Given the description of an element on the screen output the (x, y) to click on. 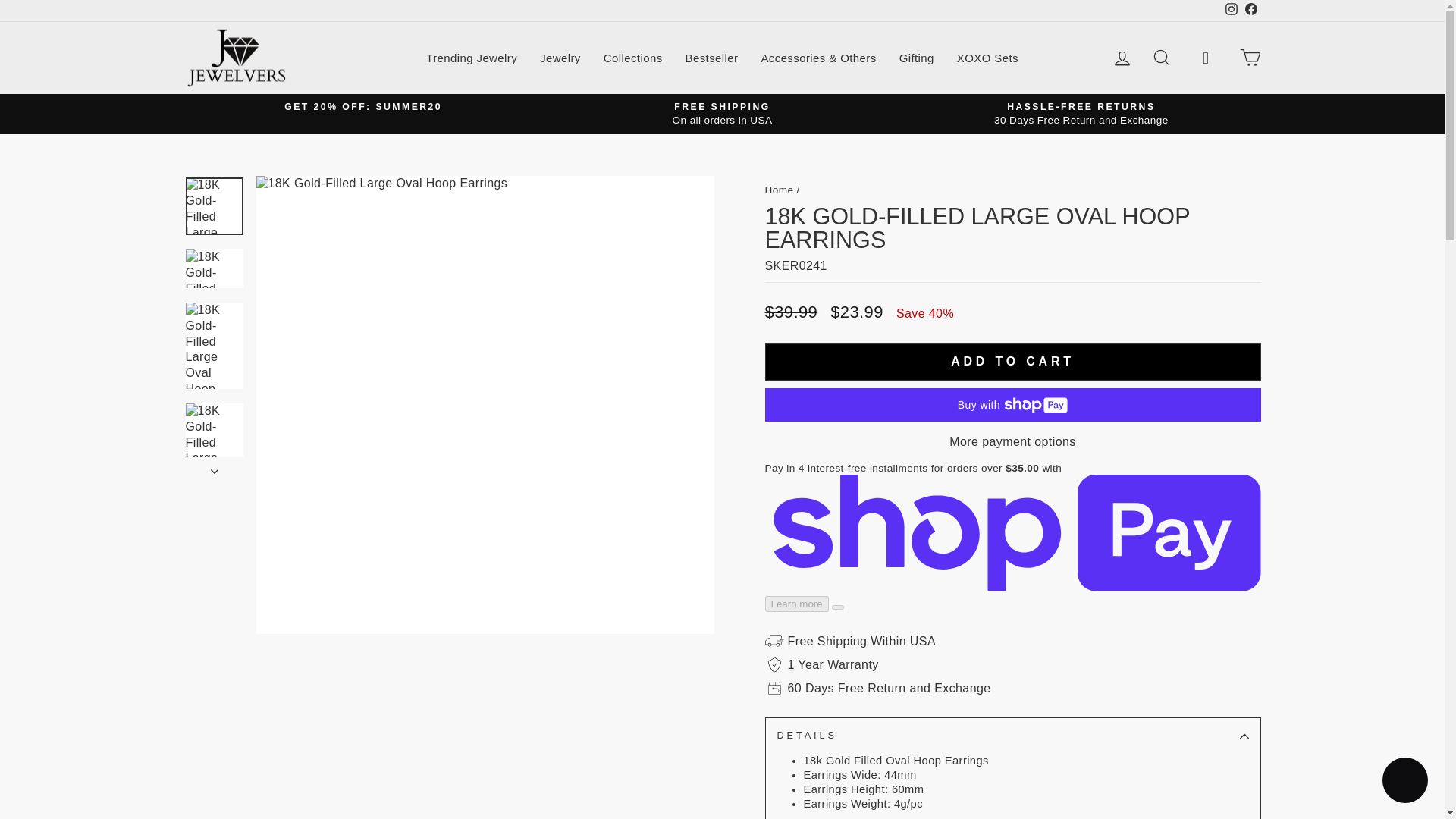
Jewelvers on Facebook (1250, 10)
Back to the frontpage (778, 189)
Jewelvers on Instagram (1230, 10)
Shopify online store chat (1404, 781)
